Given the description of an element on the screen output the (x, y) to click on. 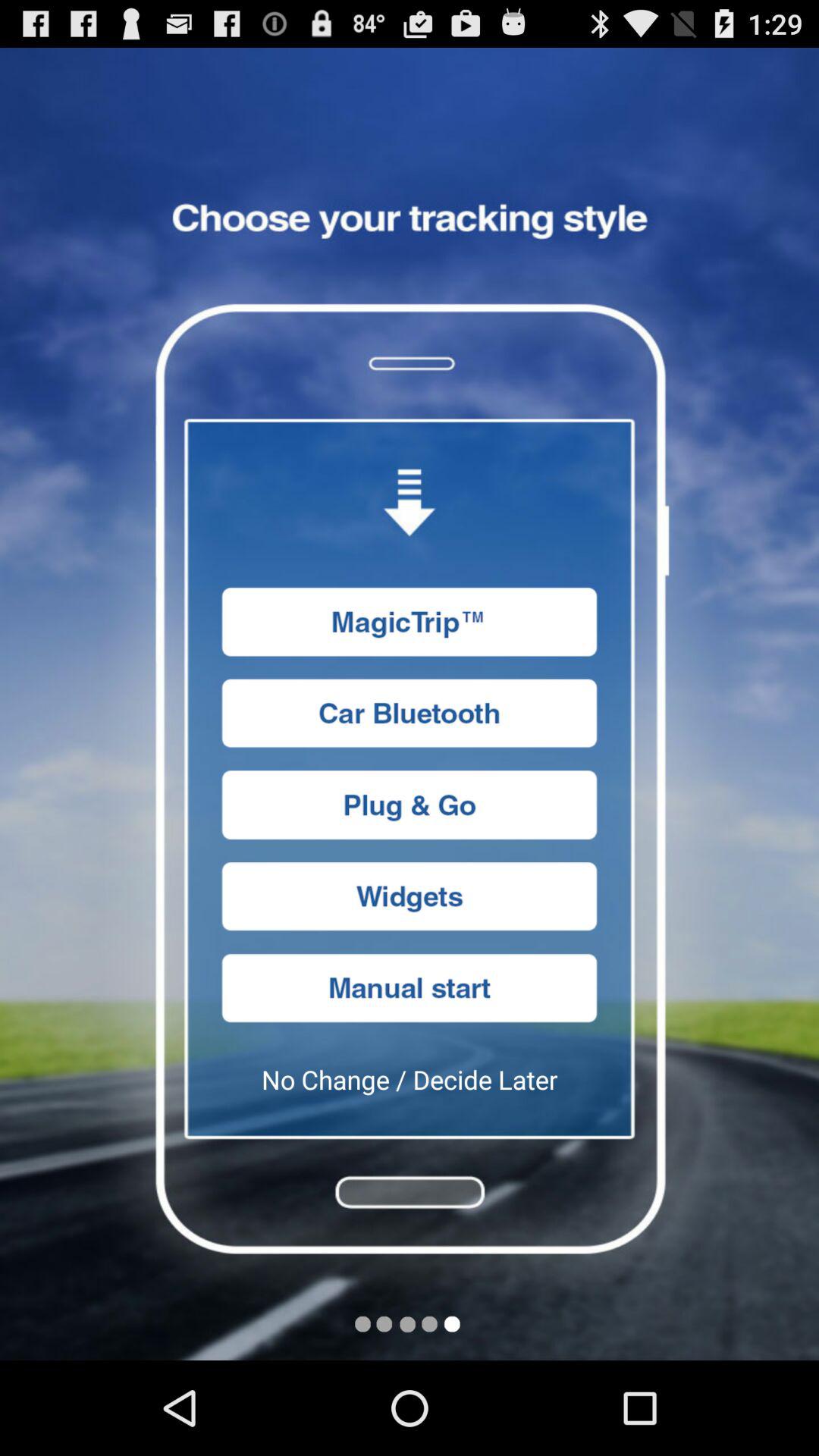
start button (409, 987)
